Given the description of an element on the screen output the (x, y) to click on. 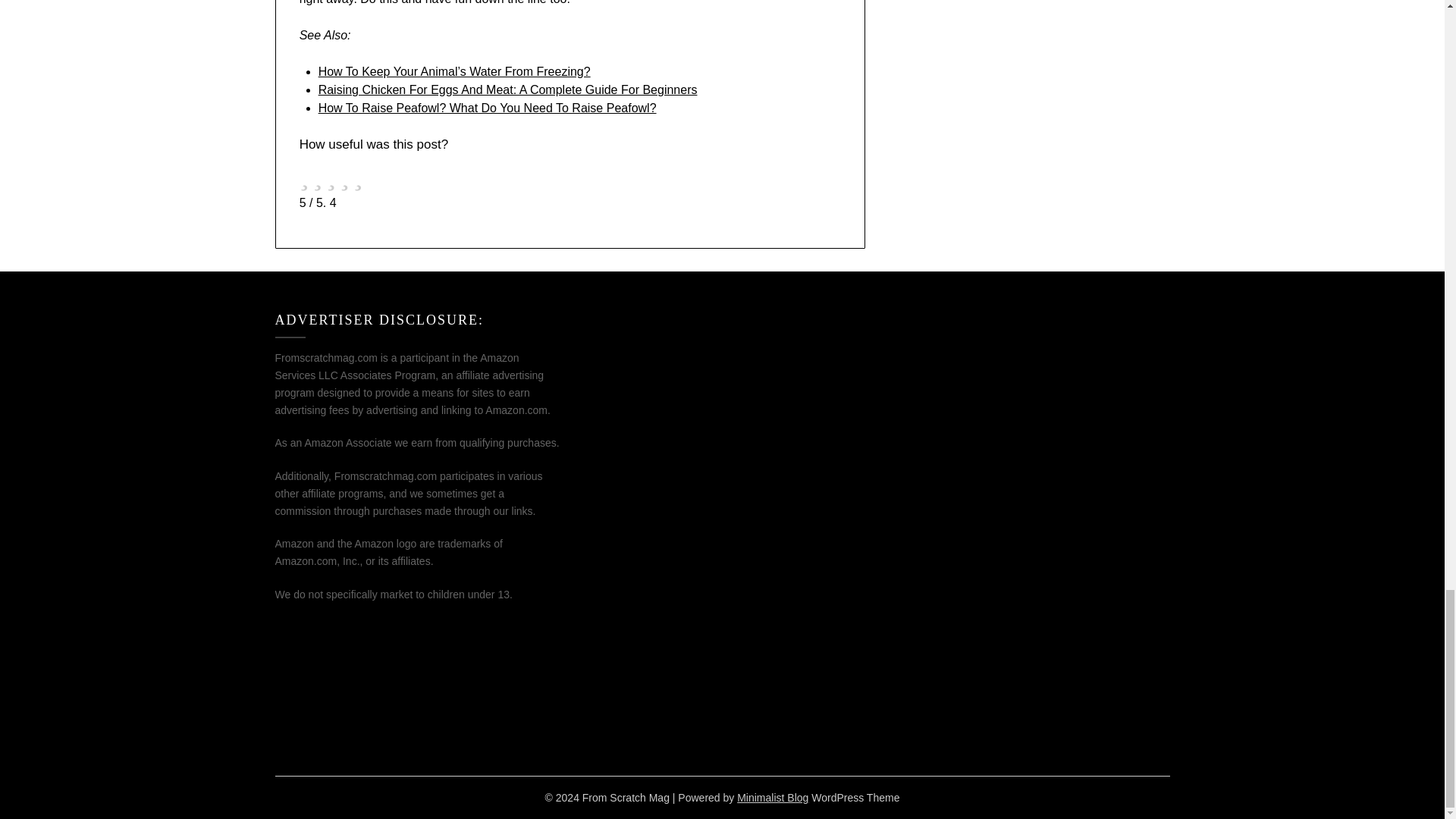
How To Raise Peafowl? What Do You Need To Raise Peafowl? (487, 107)
DMCA.com Protection Status (388, 729)
Minimalist Blog (772, 797)
